Given the description of an element on the screen output the (x, y) to click on. 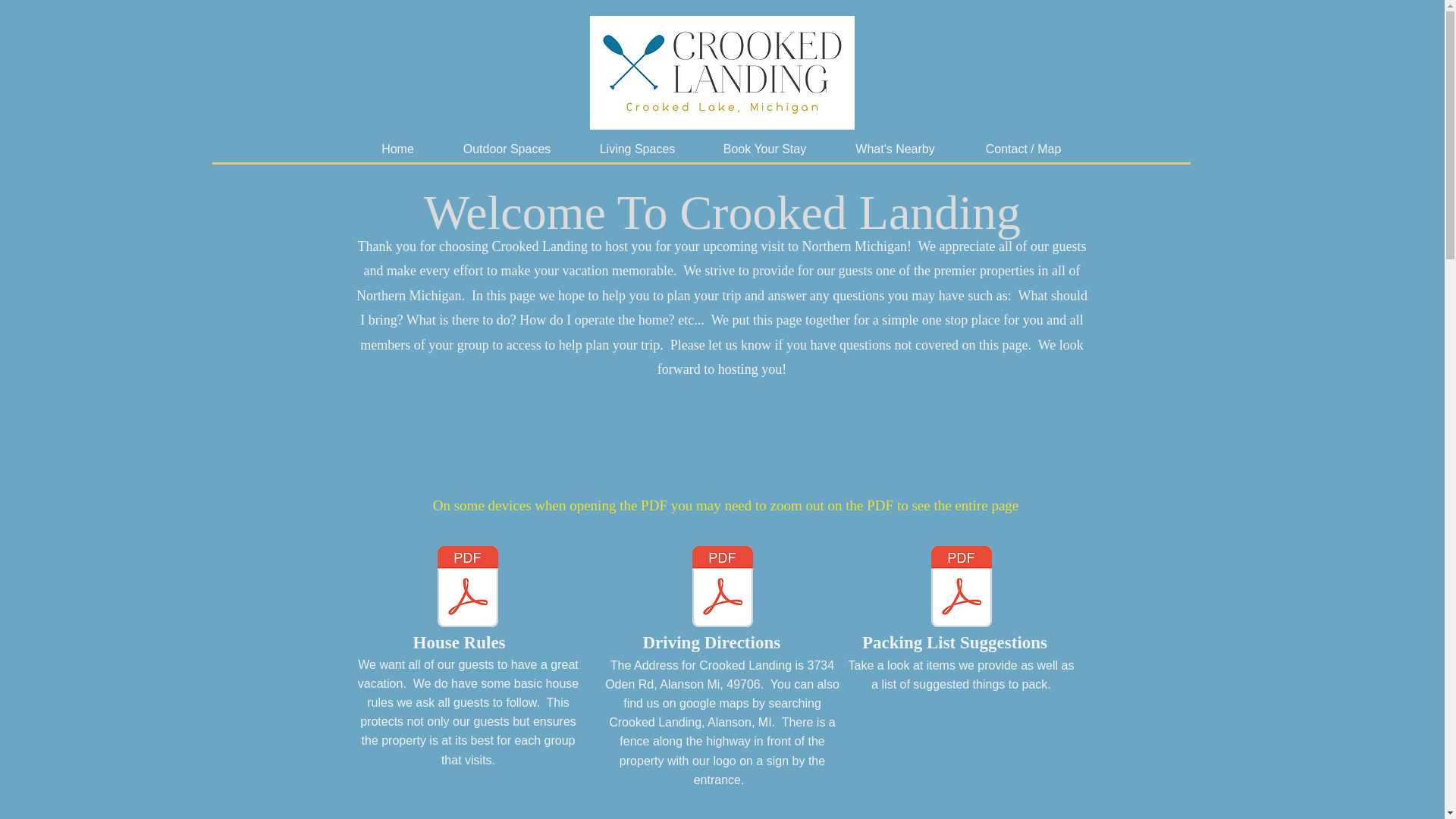
Outdoor Spaces (507, 149)
Living Spaces (637, 149)
What's Nearby (895, 149)
Book Your Stay (764, 149)
Home (398, 149)
